Given the description of an element on the screen output the (x, y) to click on. 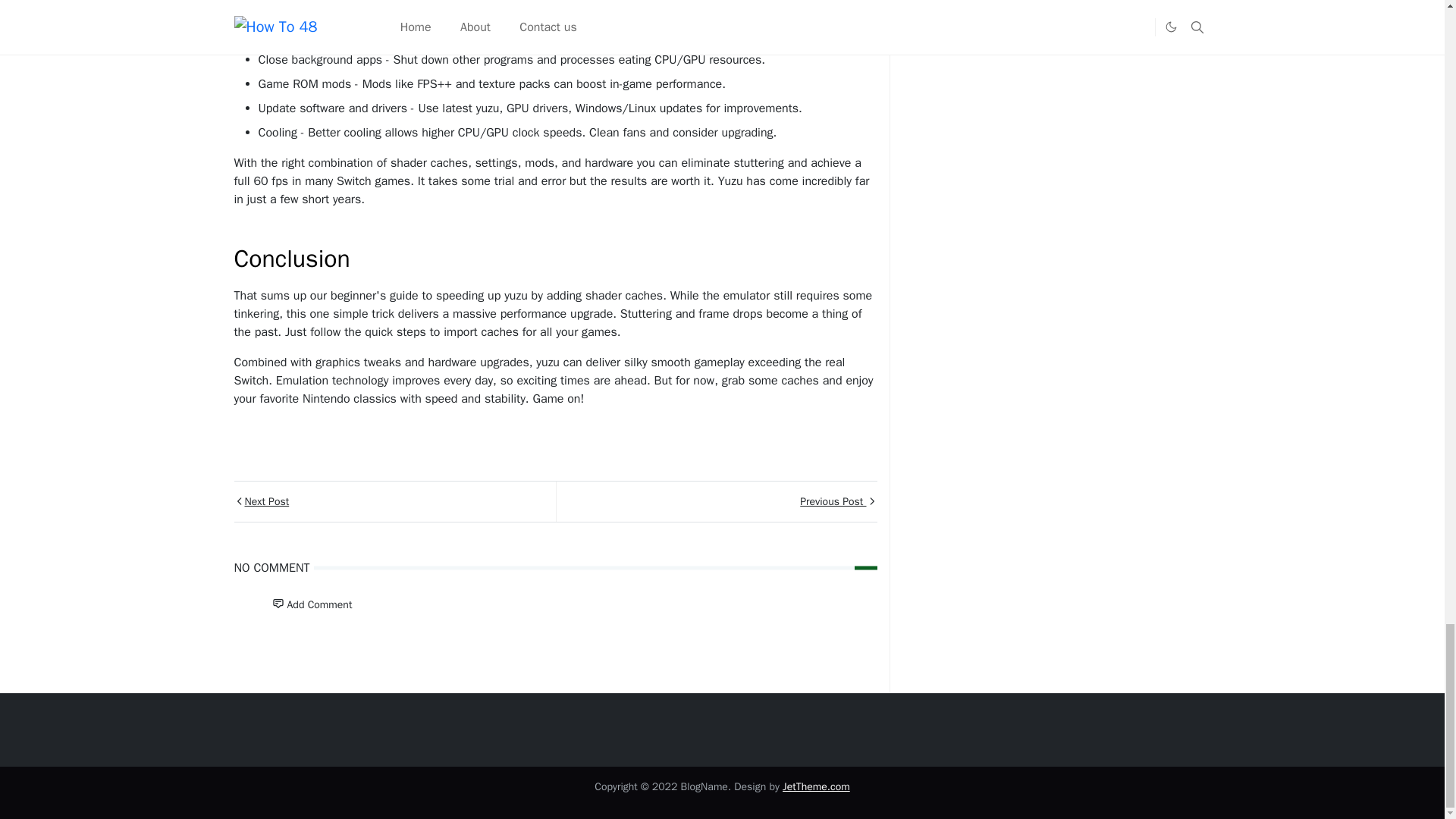
Previous Post (715, 501)
Next Post (393, 501)
Add Comment (311, 603)
